Given the description of an element on the screen output the (x, y) to click on. 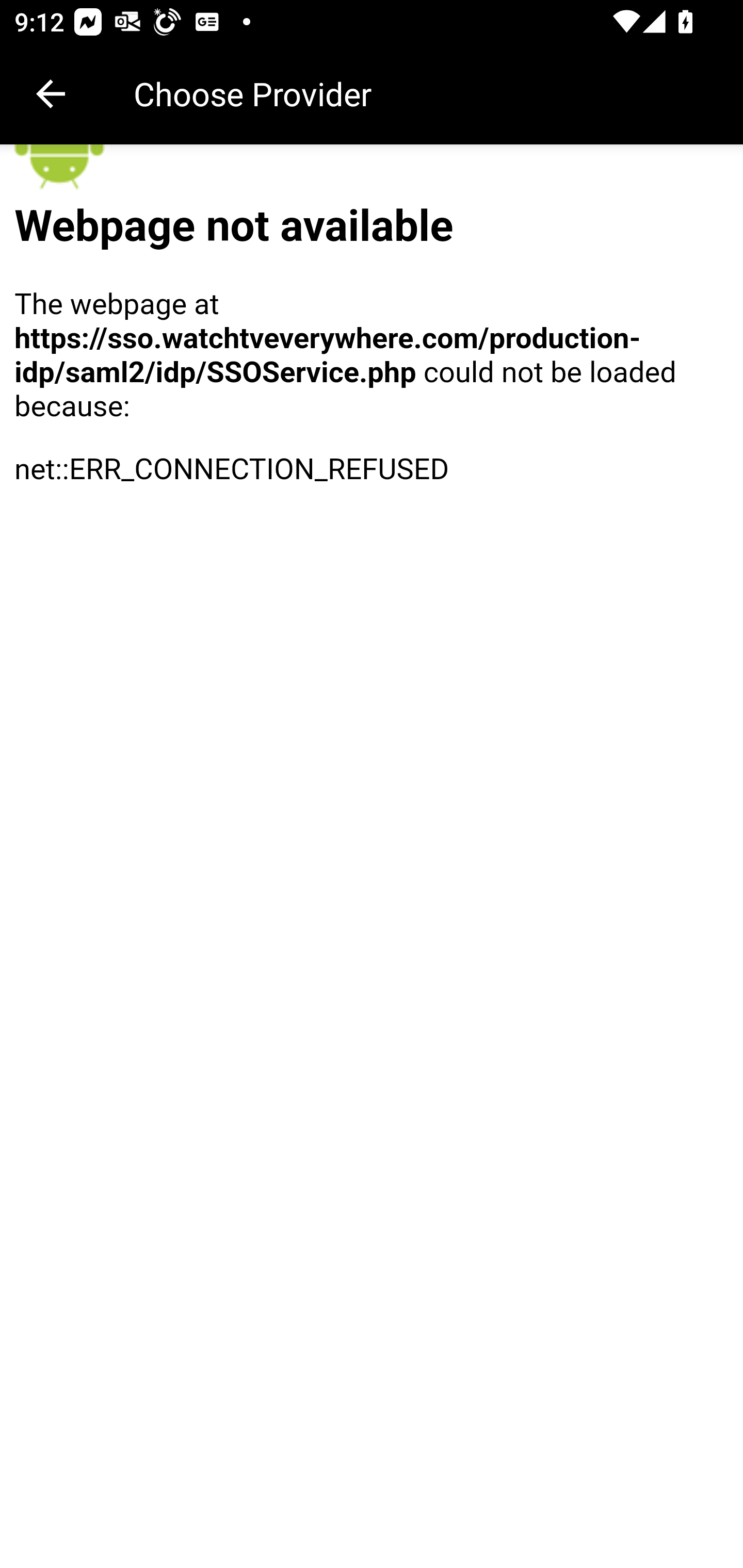
Navigate up (50, 93)
